Given the description of an element on the screen output the (x, y) to click on. 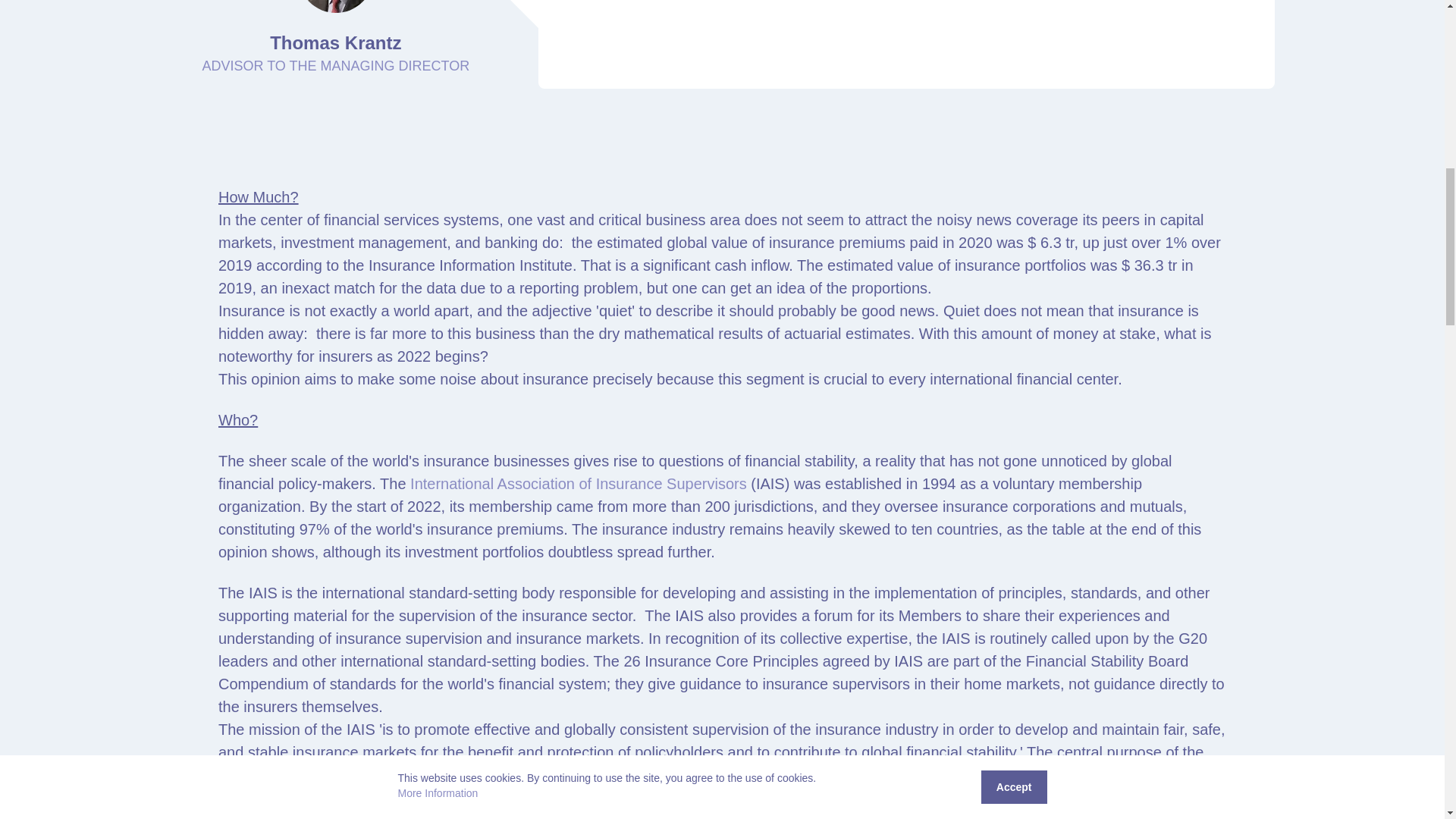
International Association of Insurance Supervisors (578, 483)
